Given the description of an element on the screen output the (x, y) to click on. 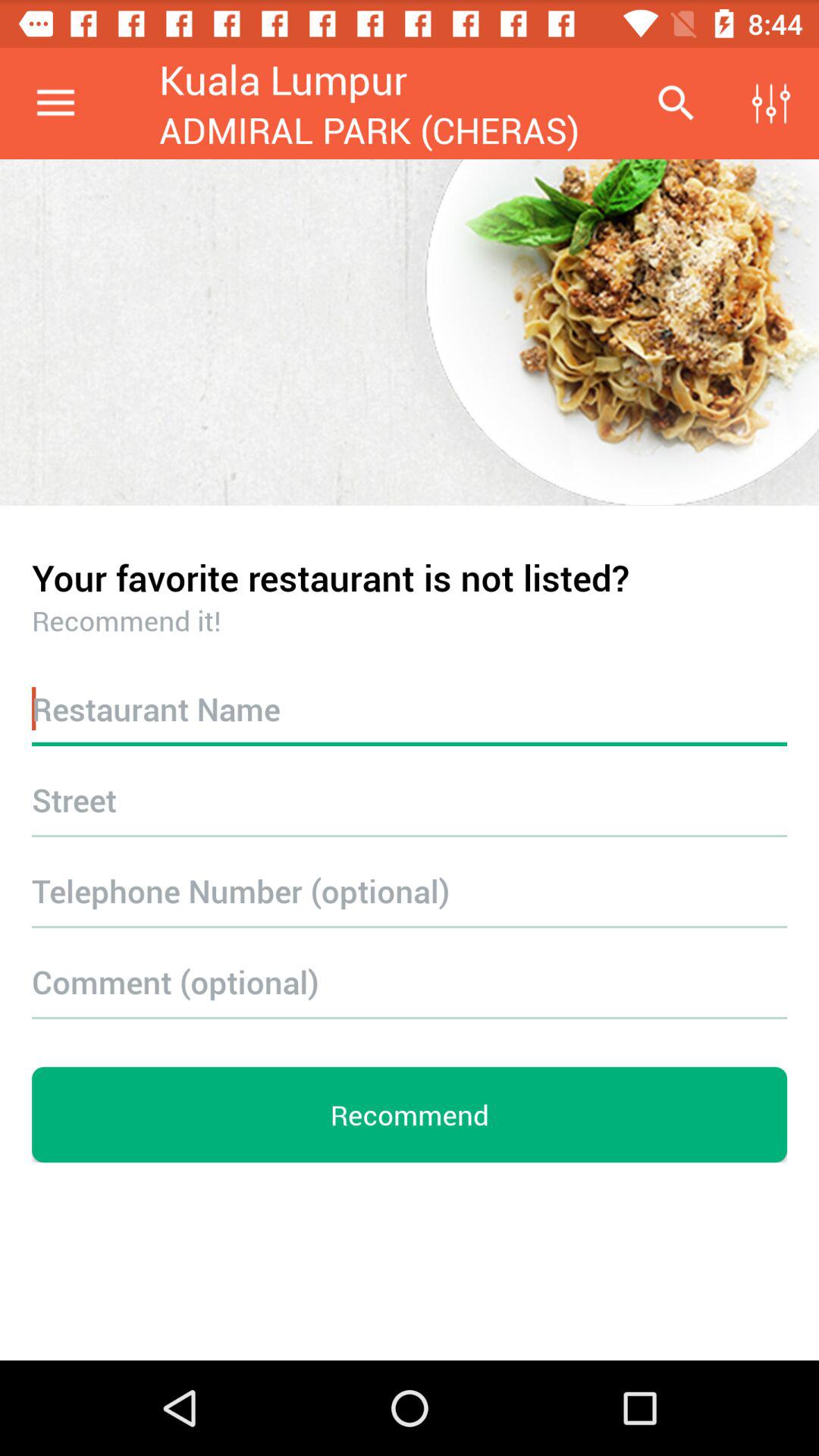
enter street info (409, 799)
